Given the description of an element on the screen output the (x, y) to click on. 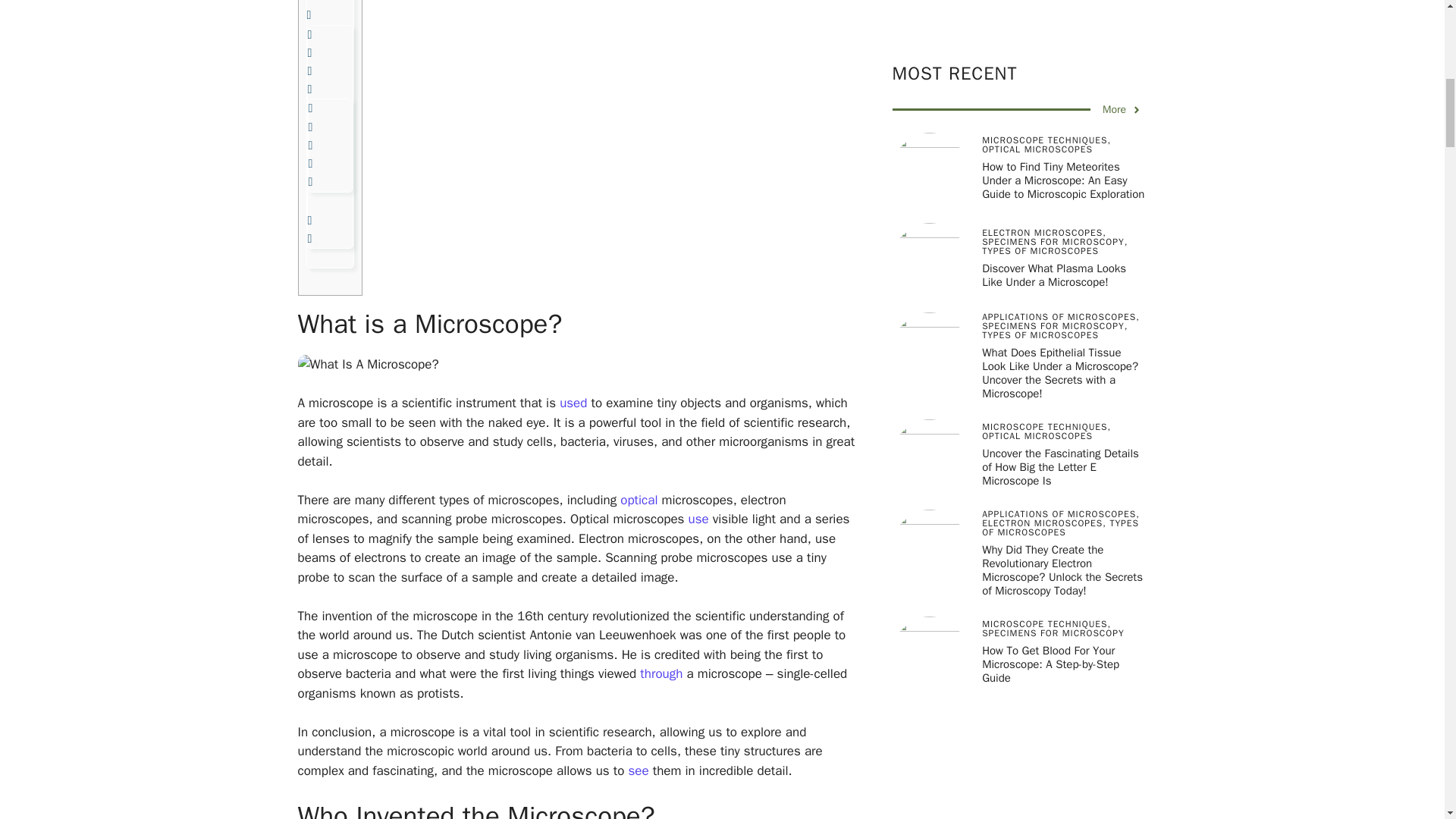
see (637, 770)
used (572, 402)
through (661, 673)
optical (639, 499)
use (698, 519)
